Given the description of an element on the screen output the (x, y) to click on. 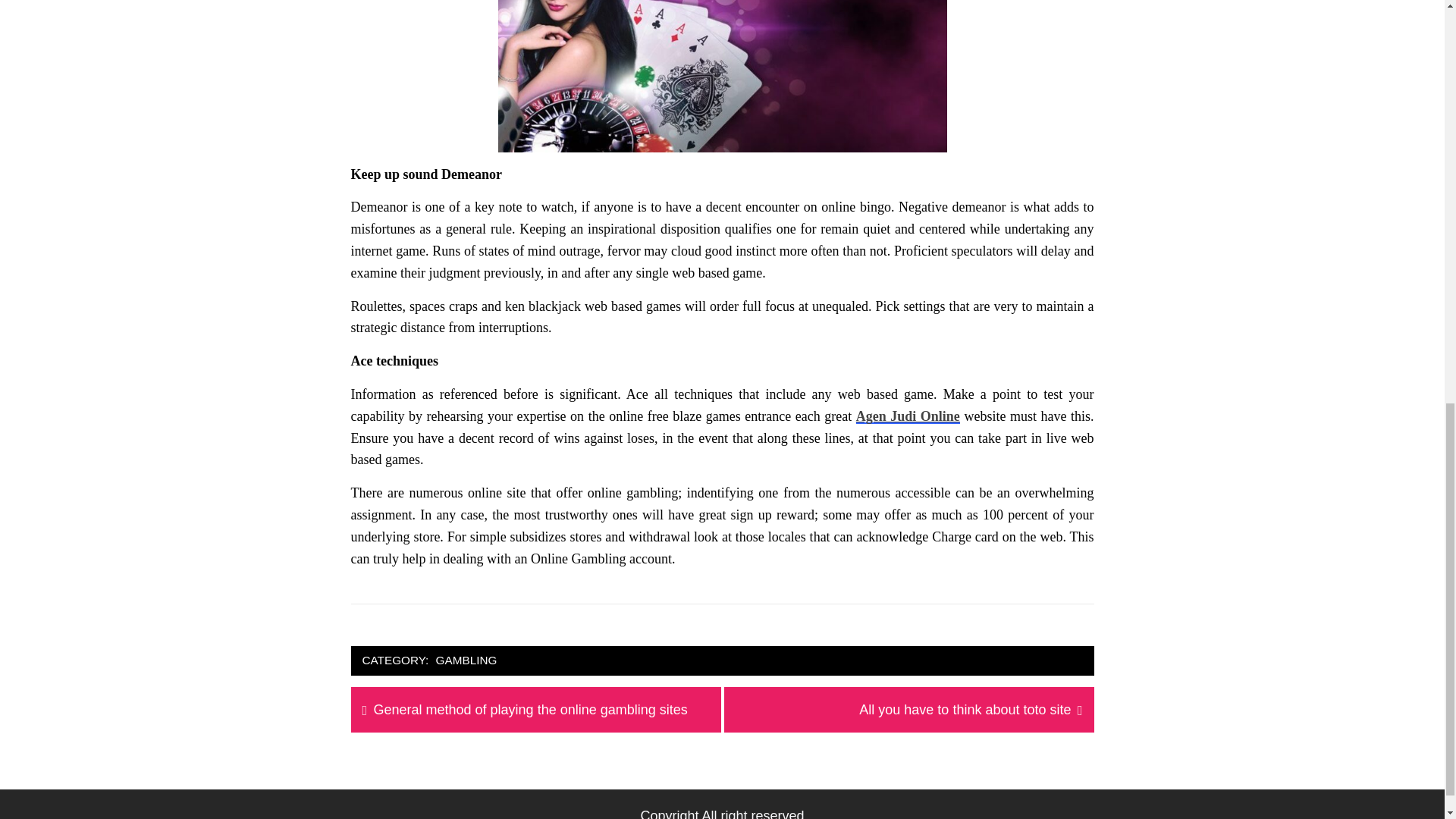
Agen Judi Online (907, 416)
GAMBLING (466, 660)
